Given the description of an element on the screen output the (x, y) to click on. 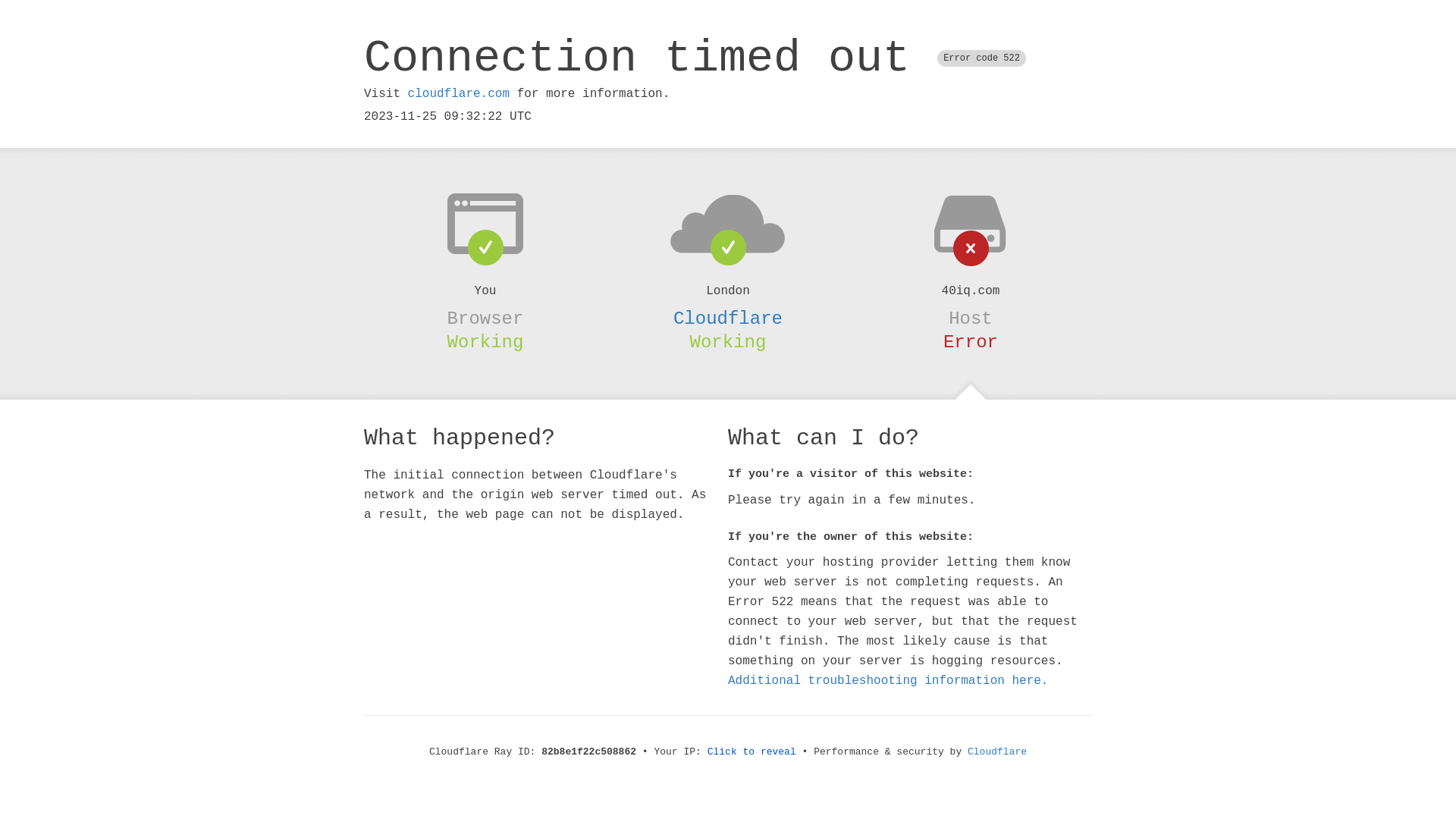
Cloudflare Element type: text (727, 318)
Additional troubleshooting information here. Element type: text (888, 680)
Cloudflare Element type: text (996, 751)
cloudflare.com Element type: text (458, 93)
Click to reveal Element type: text (751, 751)
